Given the description of an element on the screen output the (x, y) to click on. 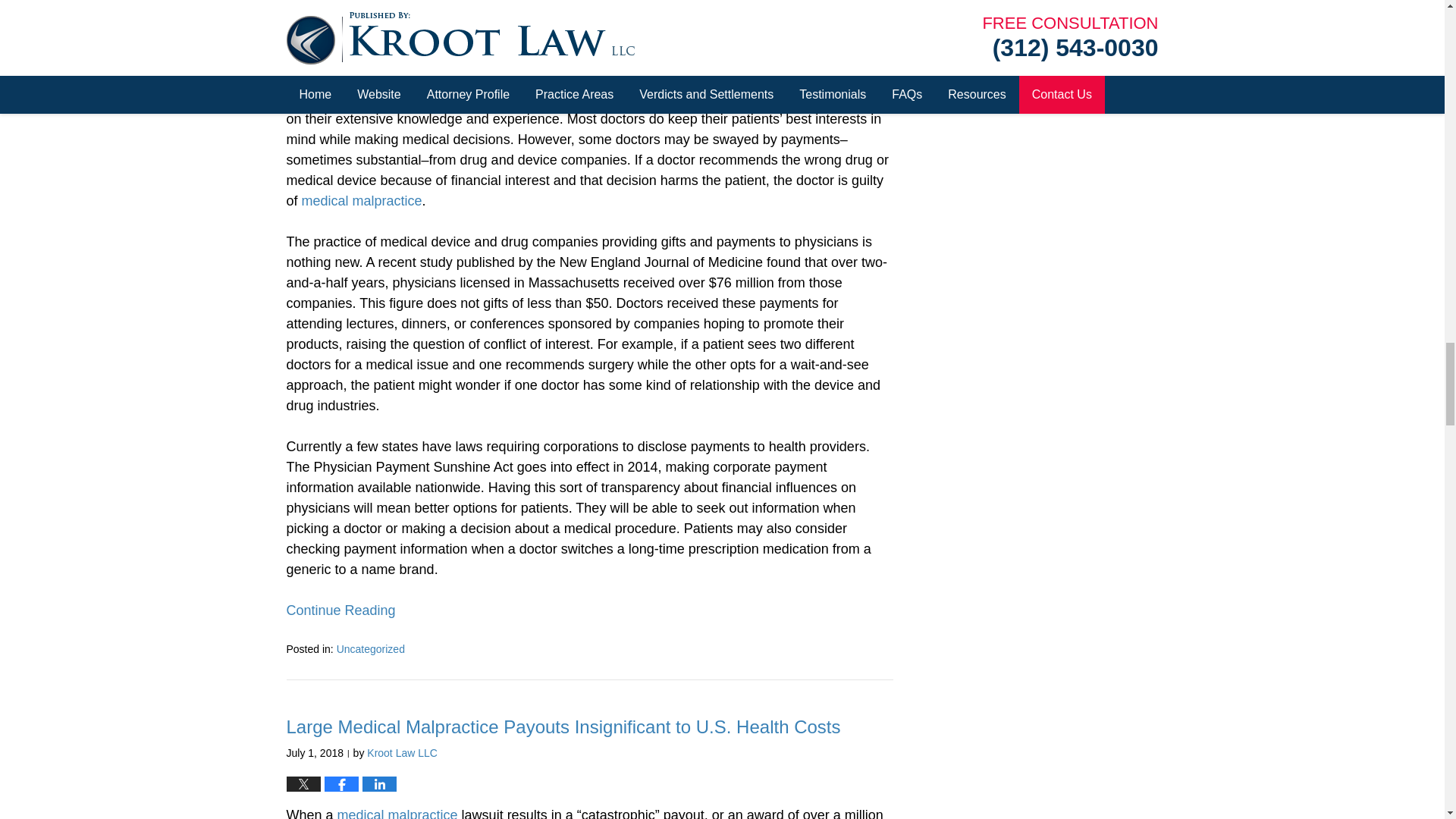
View all posts in Uncategorized (370, 648)
